Given the description of an element on the screen output the (x, y) to click on. 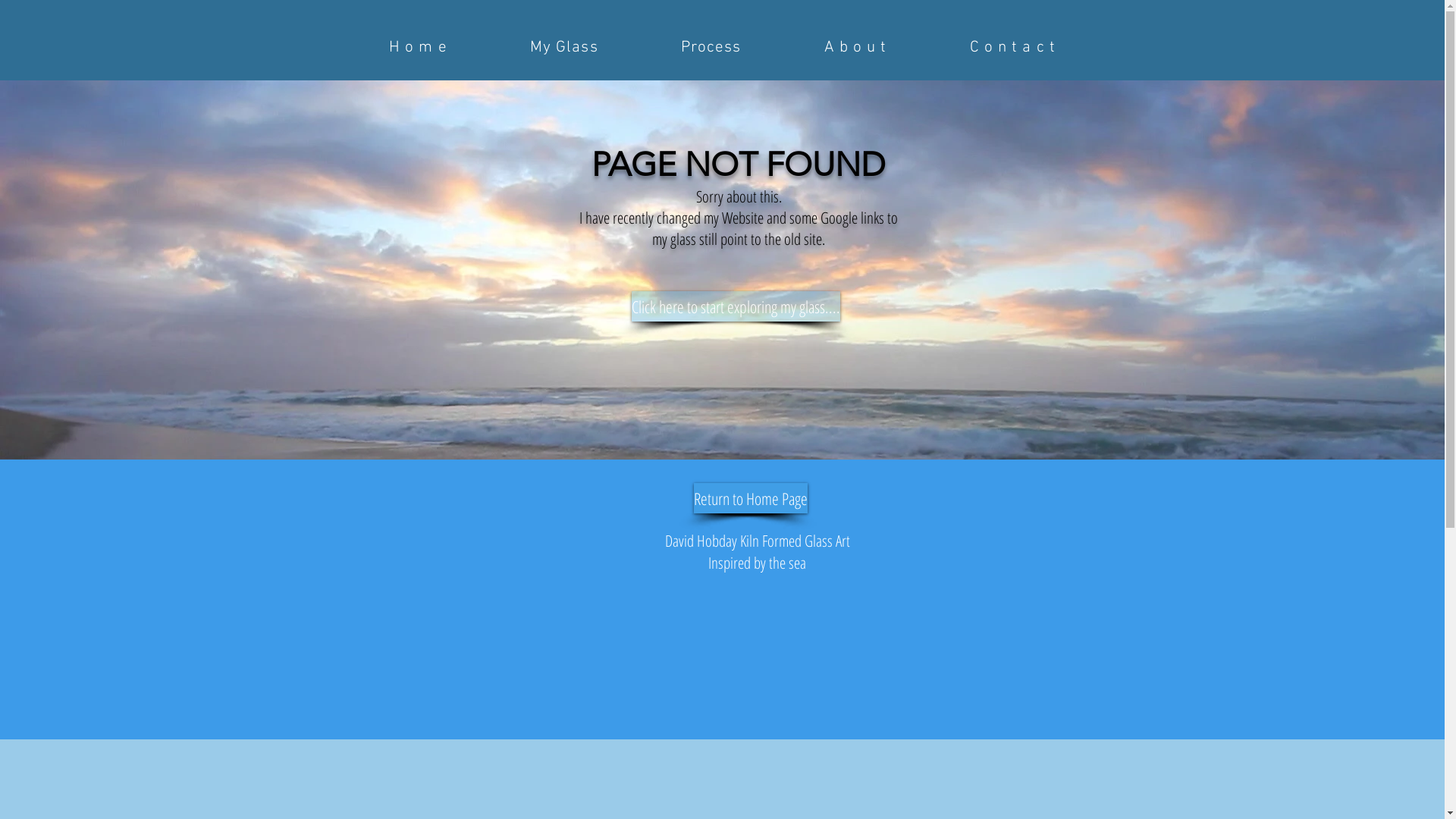
My Glass Element type: text (563, 47)
Process Element type: text (710, 47)
Click here to start exploring my glass.... Element type: text (734, 306)
A b o u t Element type: text (855, 47)
C o n t a c t Element type: text (1012, 47)
H o m e Element type: text (417, 47)
Return to Home Page Element type: text (749, 498)
